Given the description of an element on the screen output the (x, y) to click on. 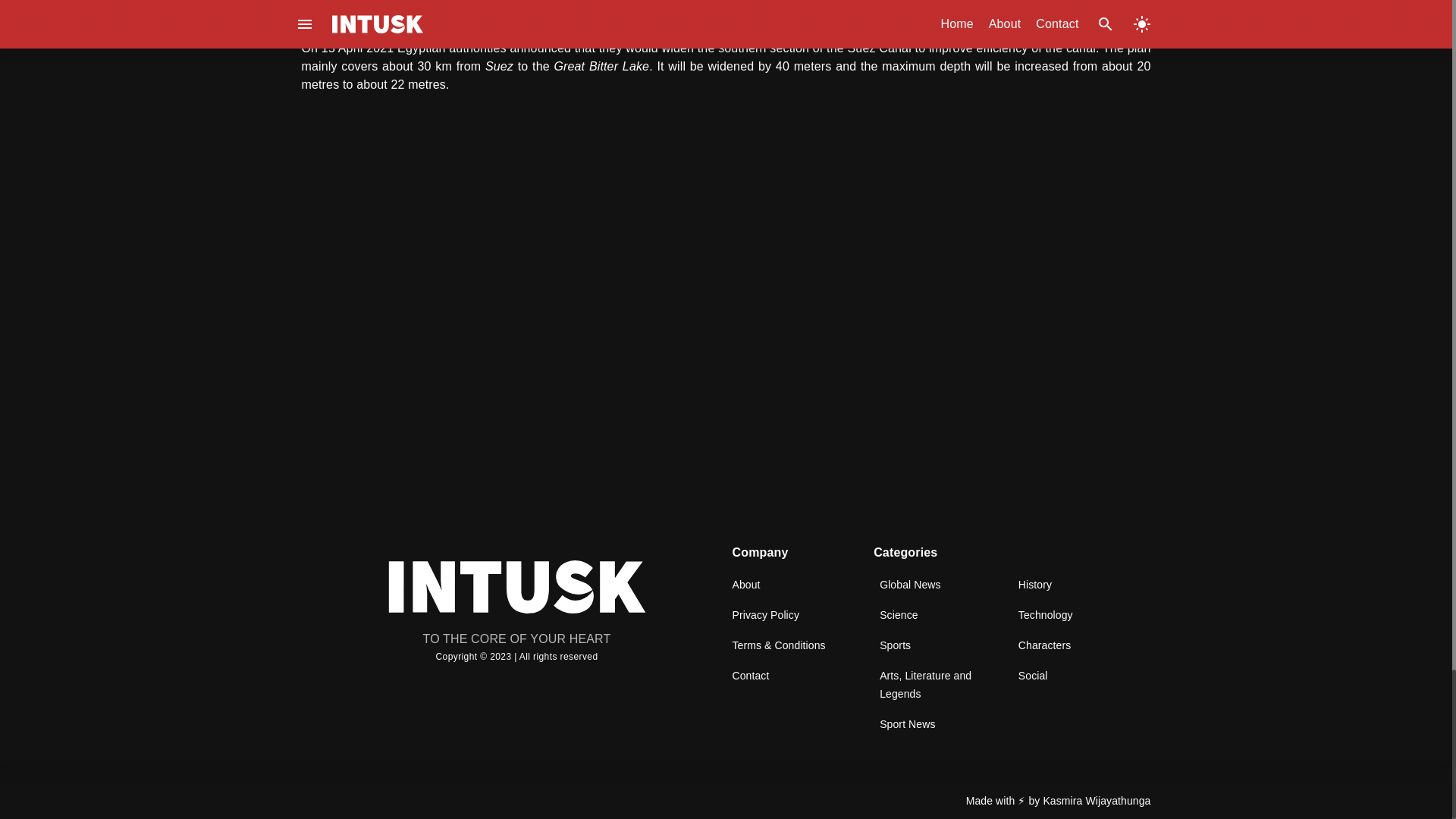
Characters (1043, 644)
Science (898, 614)
Global News (909, 584)
About (746, 584)
Contact (751, 675)
Arts, Literature and Legends (925, 684)
History (1034, 584)
Sports (895, 644)
Sport News (906, 723)
Social (1032, 675)
Technology (1045, 614)
Privacy Policy (765, 614)
